Given the description of an element on the screen output the (x, y) to click on. 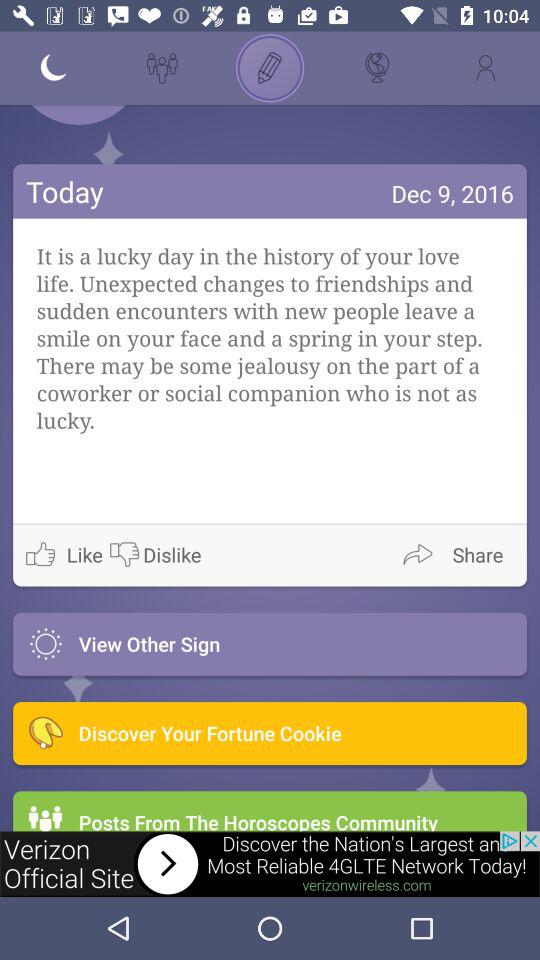
advertisement page (270, 864)
